Given the description of an element on the screen output the (x, y) to click on. 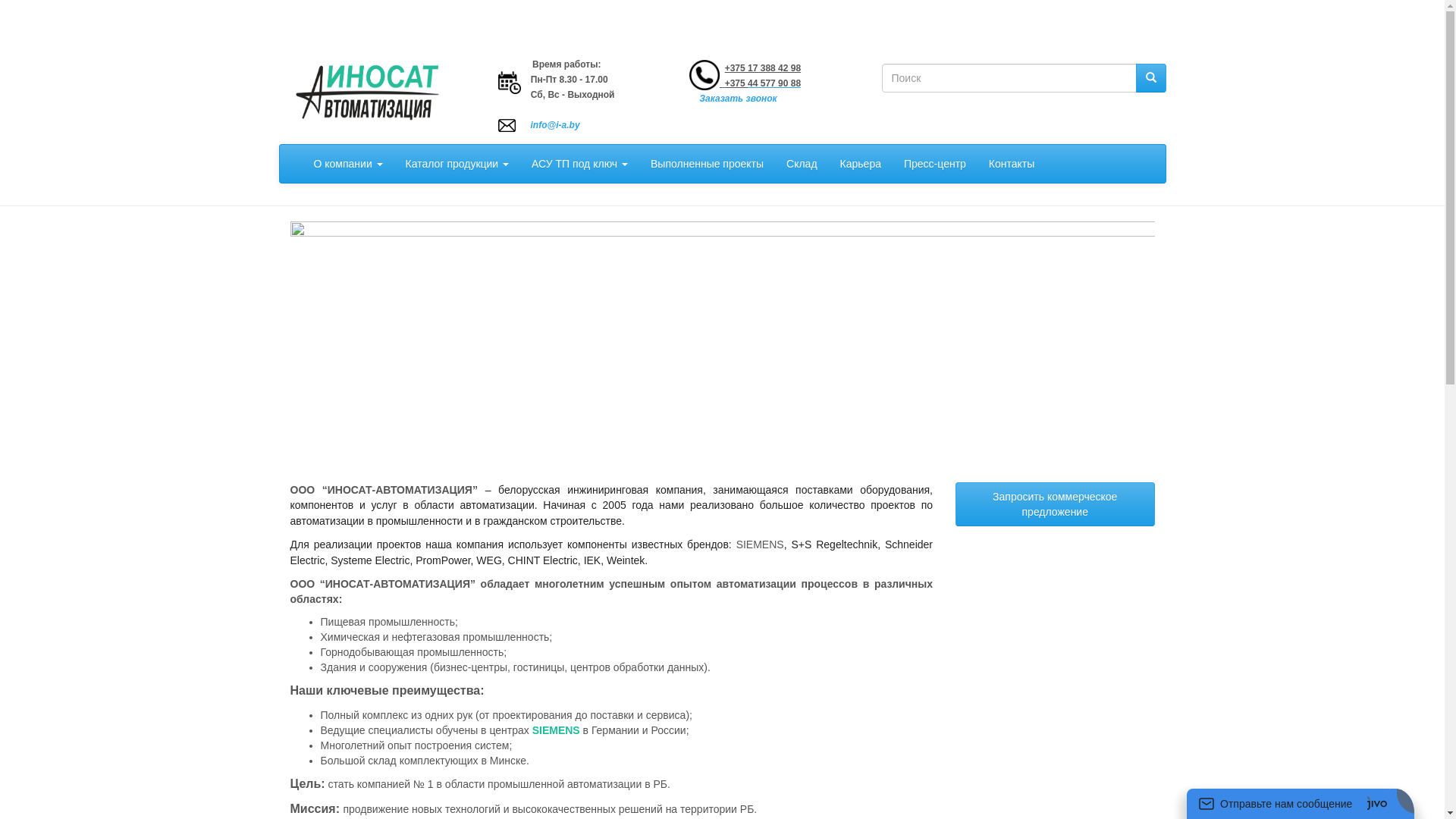
+375  Element type: text (734, 83)
44 577 90 88 Element type: text (773, 83)
info@i-a.by Element type: text (555, 124)
+375 17 388 42 98 Element type: text (762, 67)
